Given the description of an element on the screen output the (x, y) to click on. 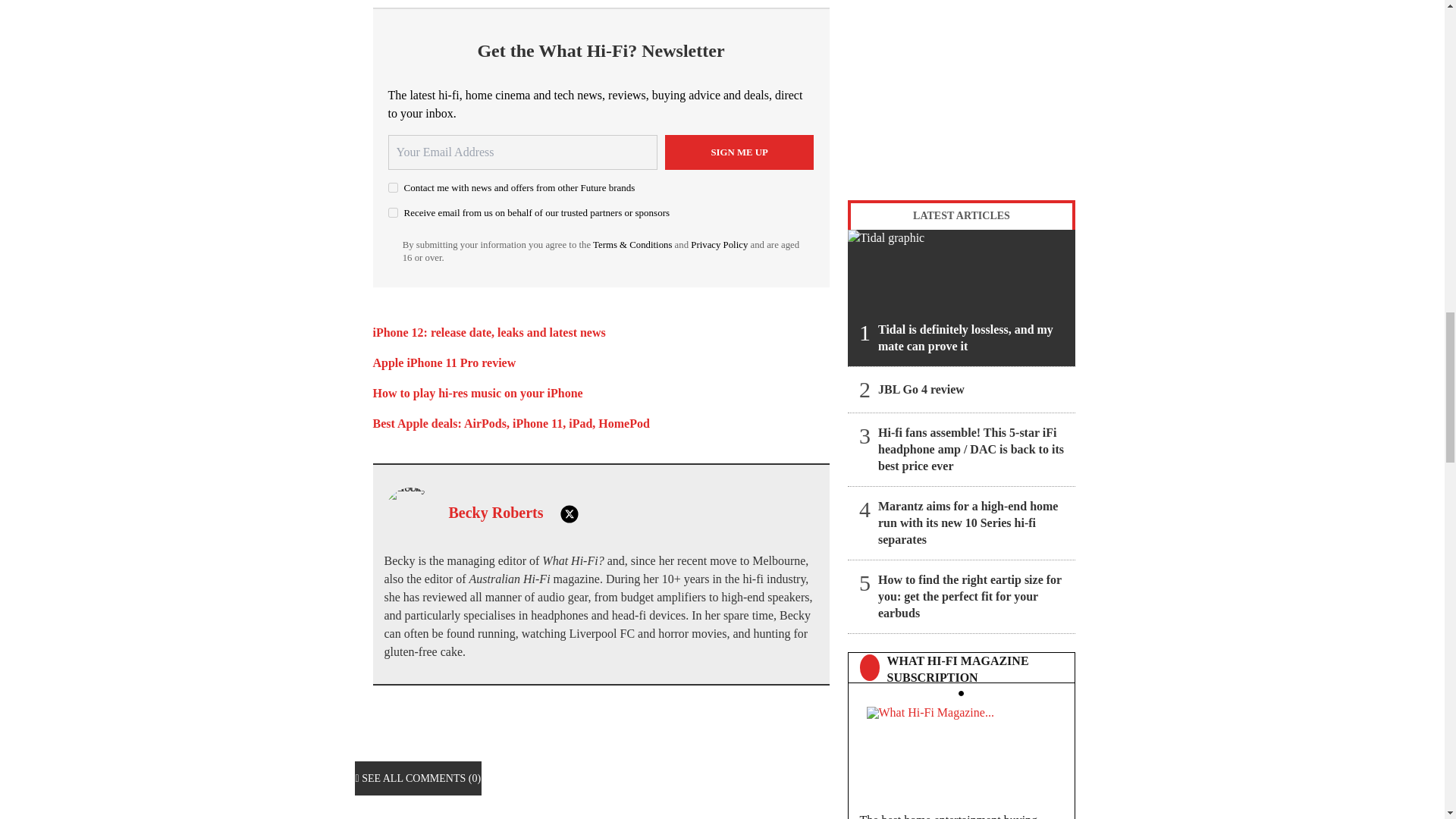
What Hi-Fi Magazine... (960, 750)
on (392, 187)
Tidal is definitely lossless, and my mate can prove it (961, 298)
Sign me up (739, 152)
on (392, 212)
